Given the description of an element on the screen output the (x, y) to click on. 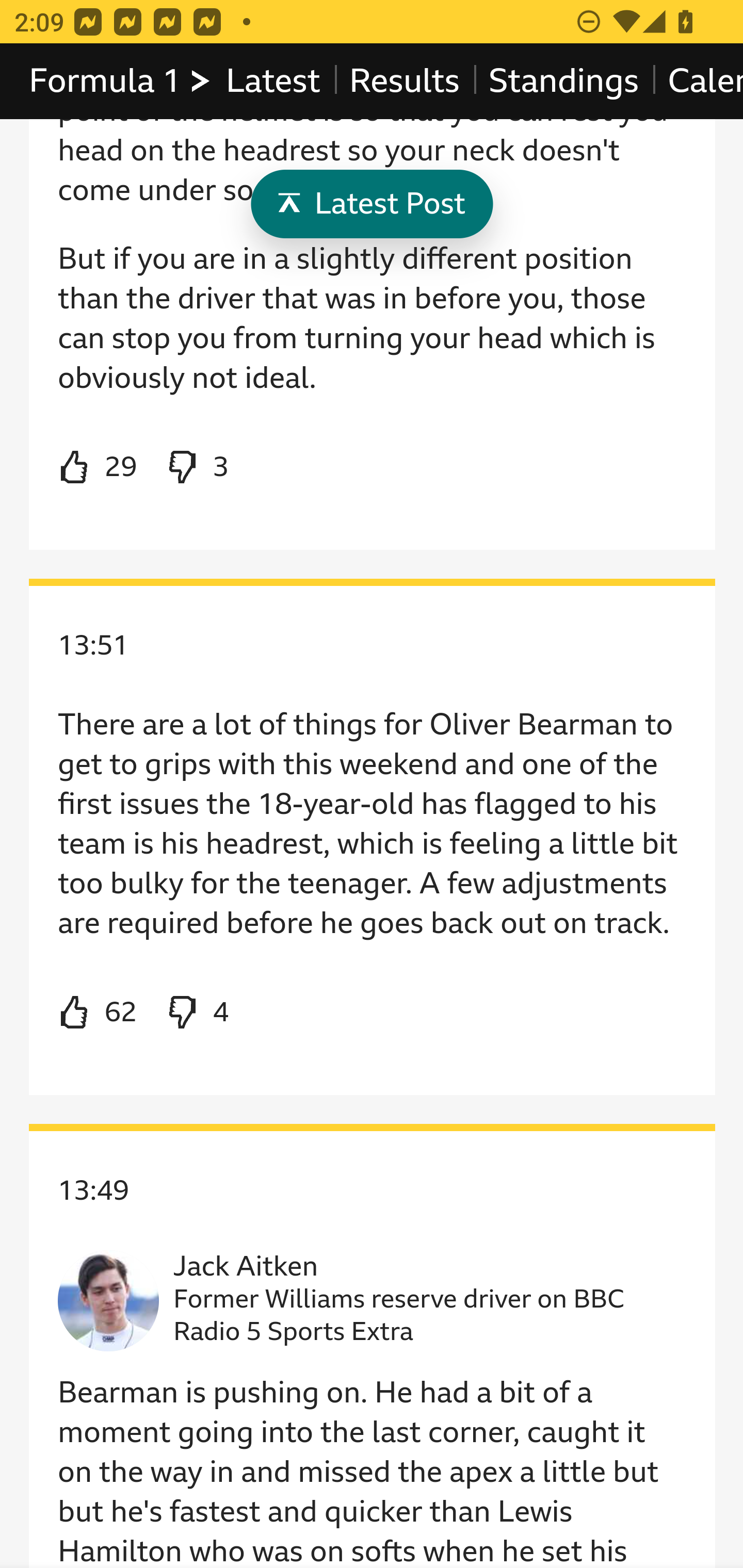
Like (97, 468)
Dislike (196, 468)
Like (97, 1012)
Dislike (196, 1012)
